Given the description of an element on the screen output the (x, y) to click on. 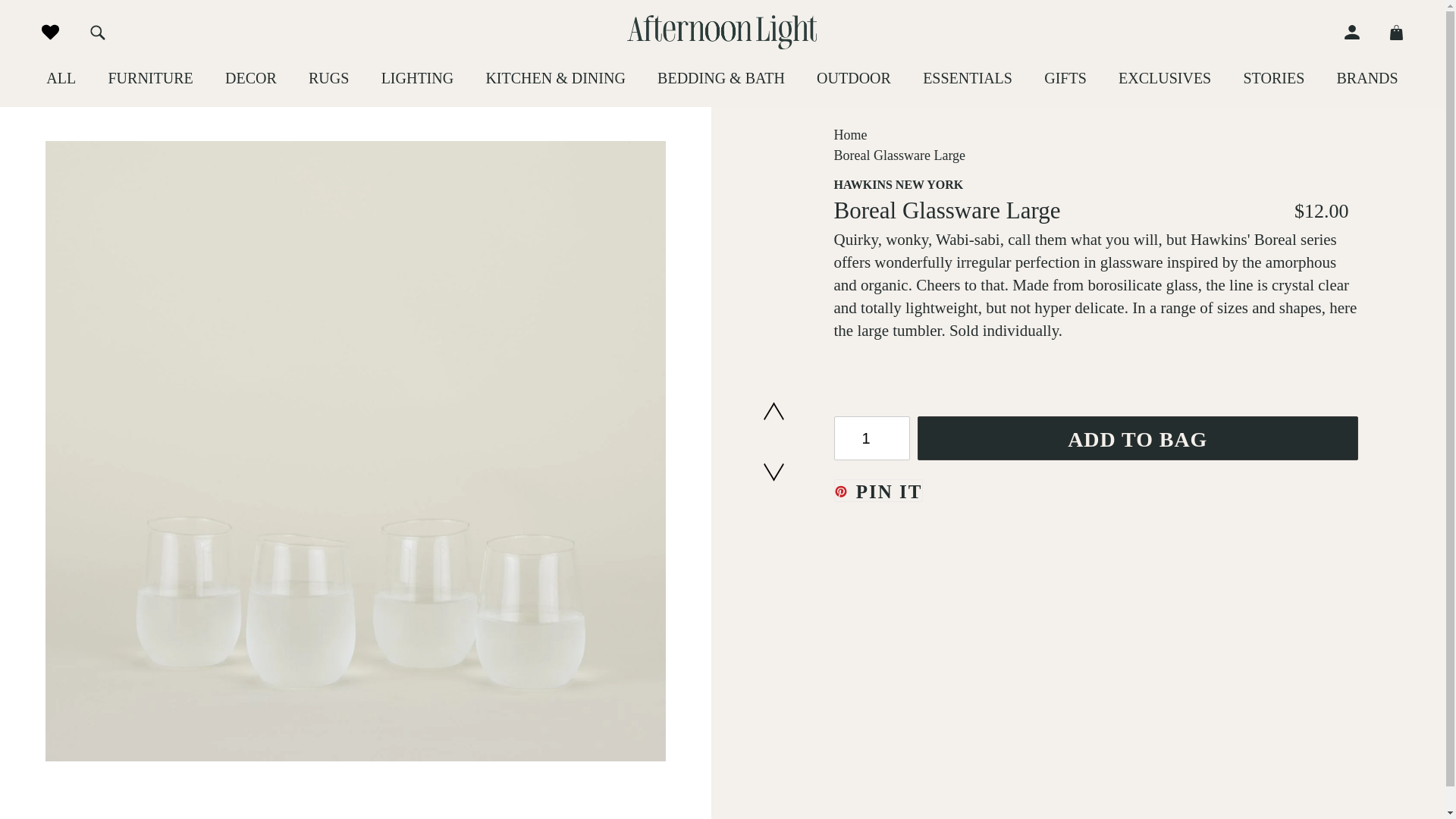
FURNITURE (149, 77)
ALL (60, 77)
Log in (1358, 32)
Cart (1388, 32)
1 (872, 438)
